Given the description of an element on the screen output the (x, y) to click on. 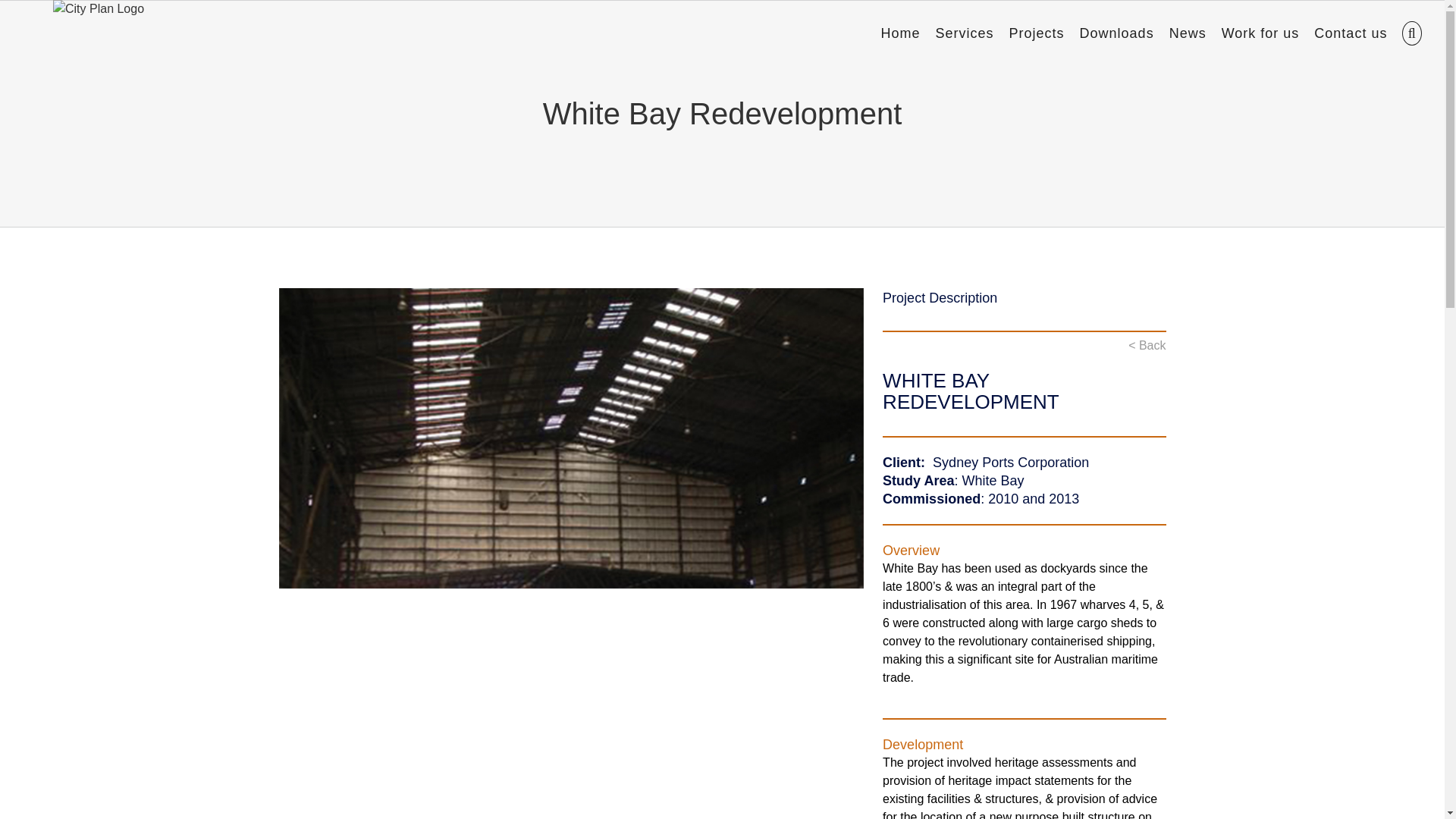
Contact us (1350, 32)
Services (965, 32)
Work for us (1260, 32)
Downloads (1117, 32)
